Given the description of an element on the screen output the (x, y) to click on. 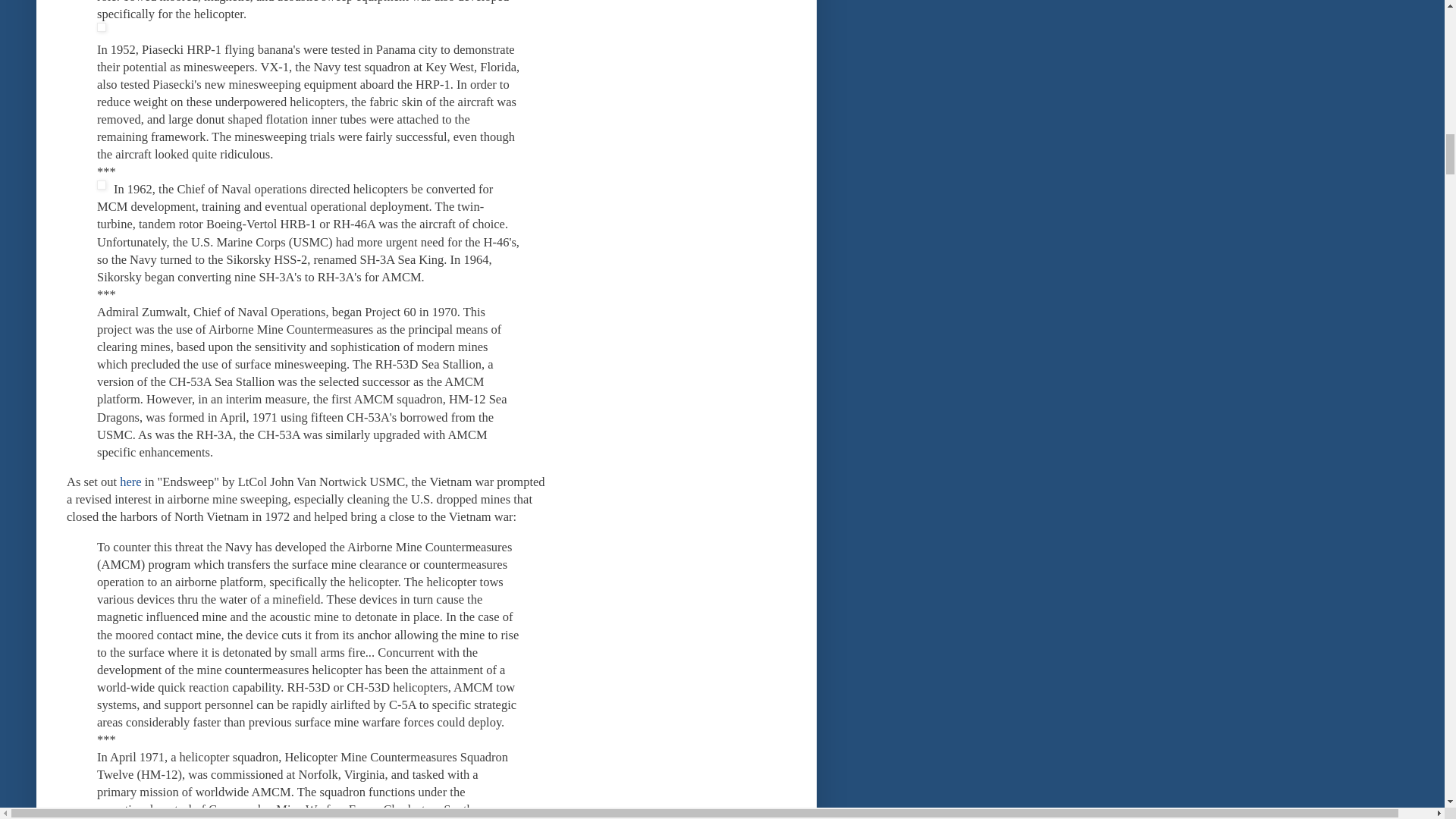
here (130, 481)
